Given the description of an element on the screen output the (x, y) to click on. 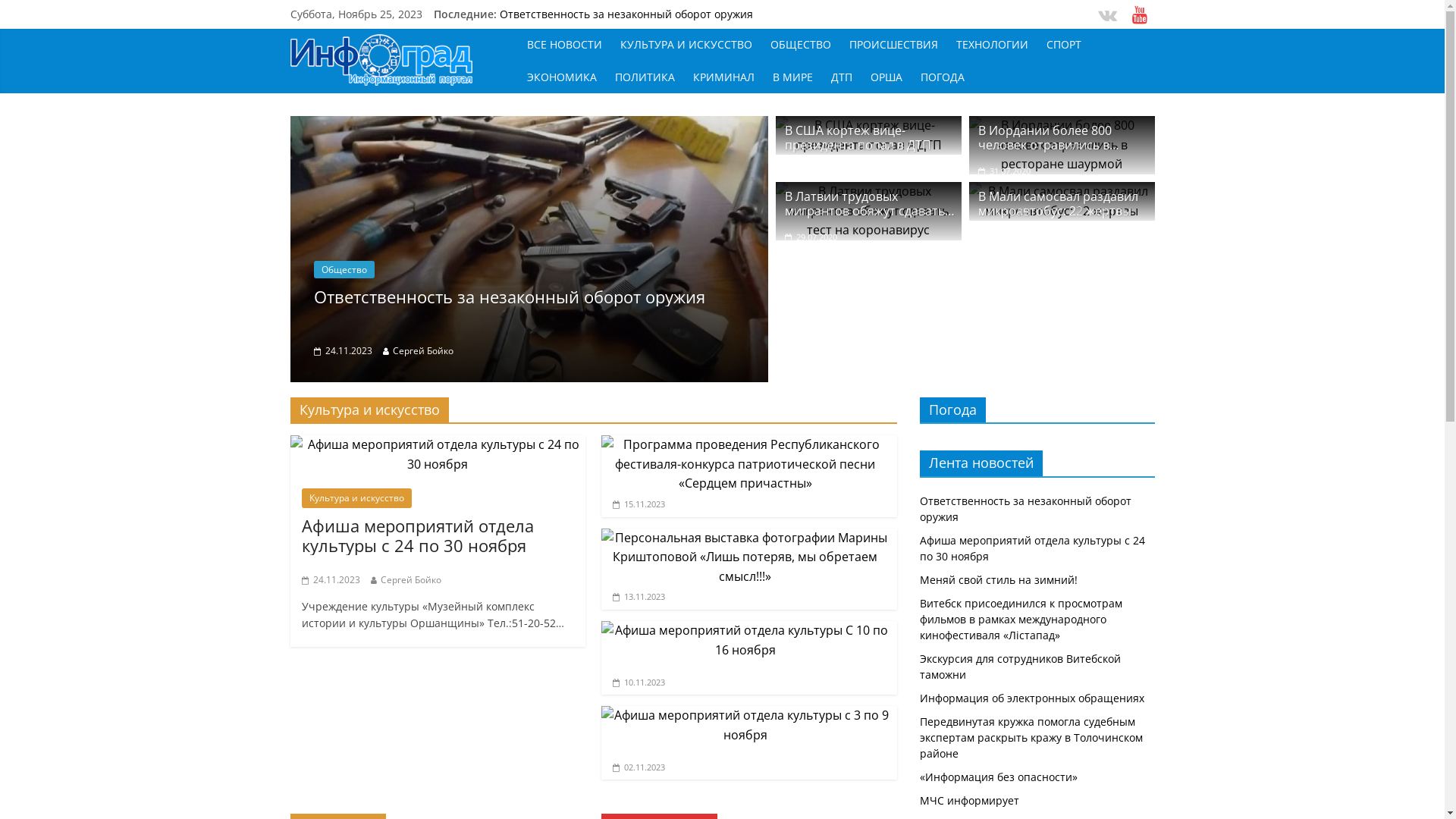
31.07.2020 Element type: text (810, 170)
10.11.2023 Element type: text (638, 681)
02.11.2023 Element type: text (638, 766)
31.07.2020 Element type: text (1004, 170)
15.11.2023 Element type: text (638, 503)
13.11.2023 Element type: text (638, 596)
24.11.2023 Element type: text (330, 579)
29.07.2020 Element type: text (810, 236)
29.07.2020 Element type: text (1004, 236)
24.11.2023 Element type: text (342, 350)
